Given the description of an element on the screen output the (x, y) to click on. 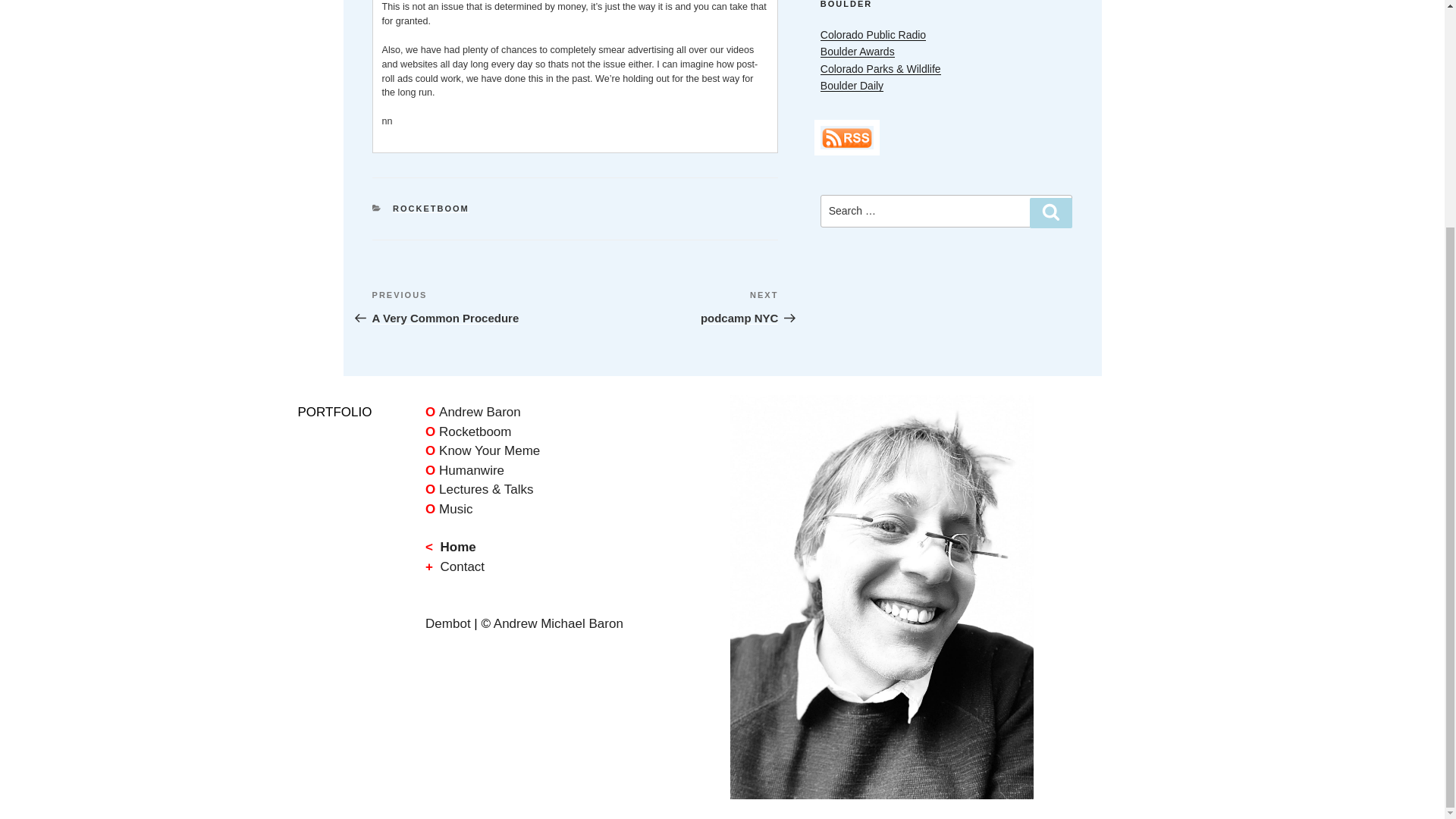
Colorado Public Radio (873, 34)
O Music (448, 509)
Dembot (447, 623)
O Rocketboom (468, 431)
Boulder Daily (473, 307)
O Andrew Baron (852, 85)
ROCKETBOOM (473, 411)
Andrew Michael Baron (430, 207)
Boulder Awards (558, 623)
